Given the description of an element on the screen output the (x, y) to click on. 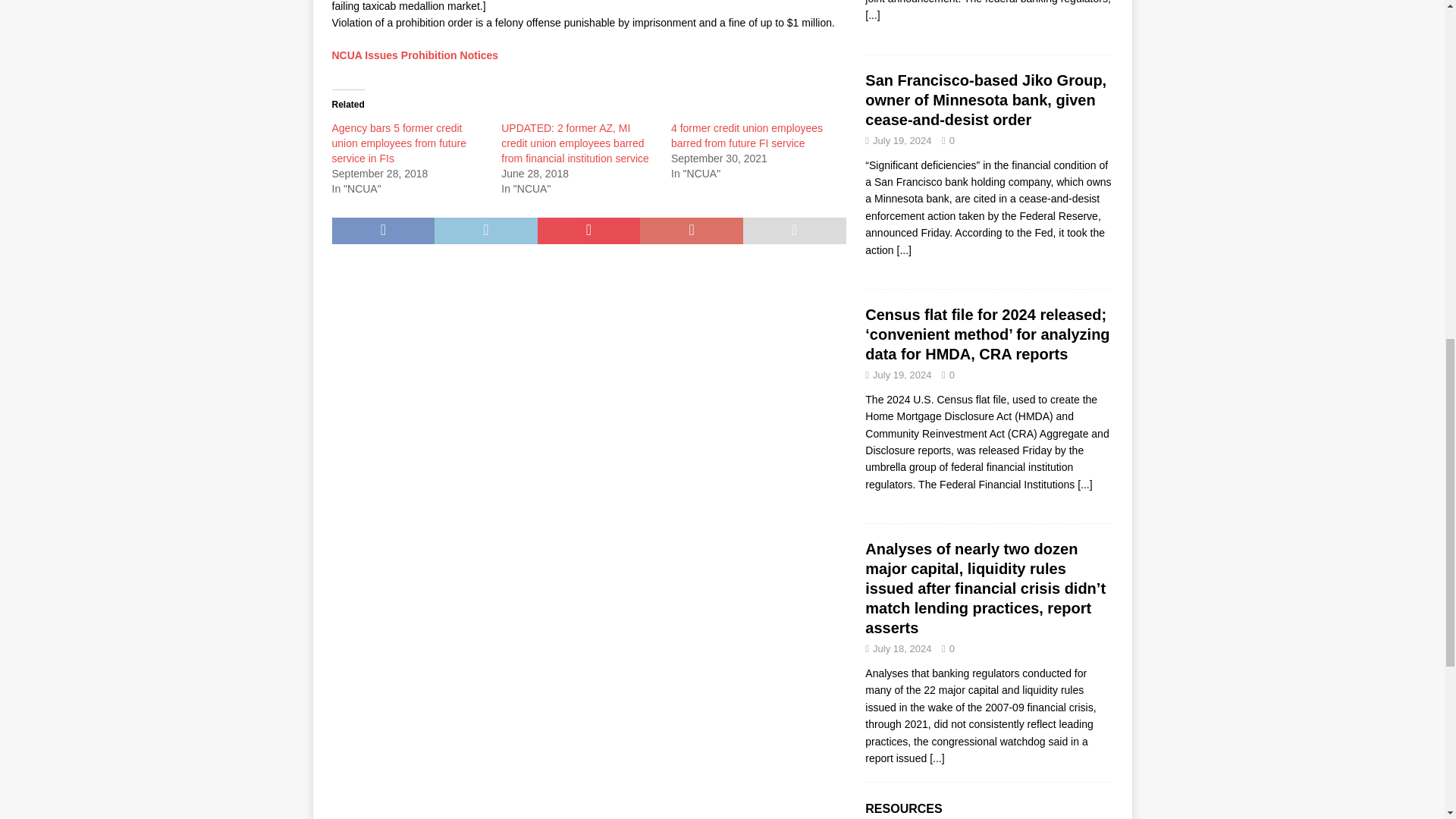
NCUA Issues Prohibition Notices (415, 55)
